Given the description of an element on the screen output the (x, y) to click on. 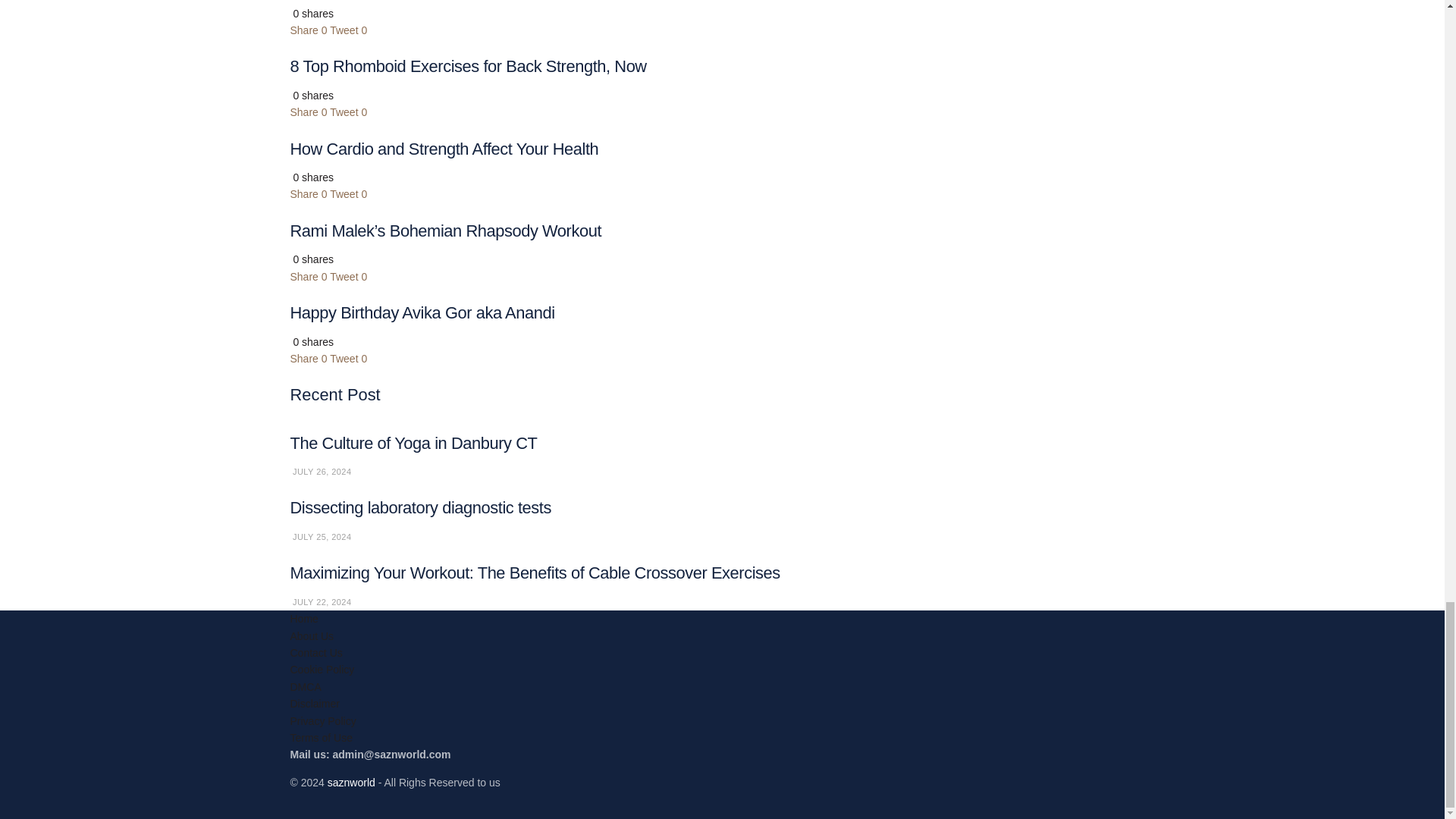
saznworld (351, 782)
